Given the description of an element on the screen output the (x, y) to click on. 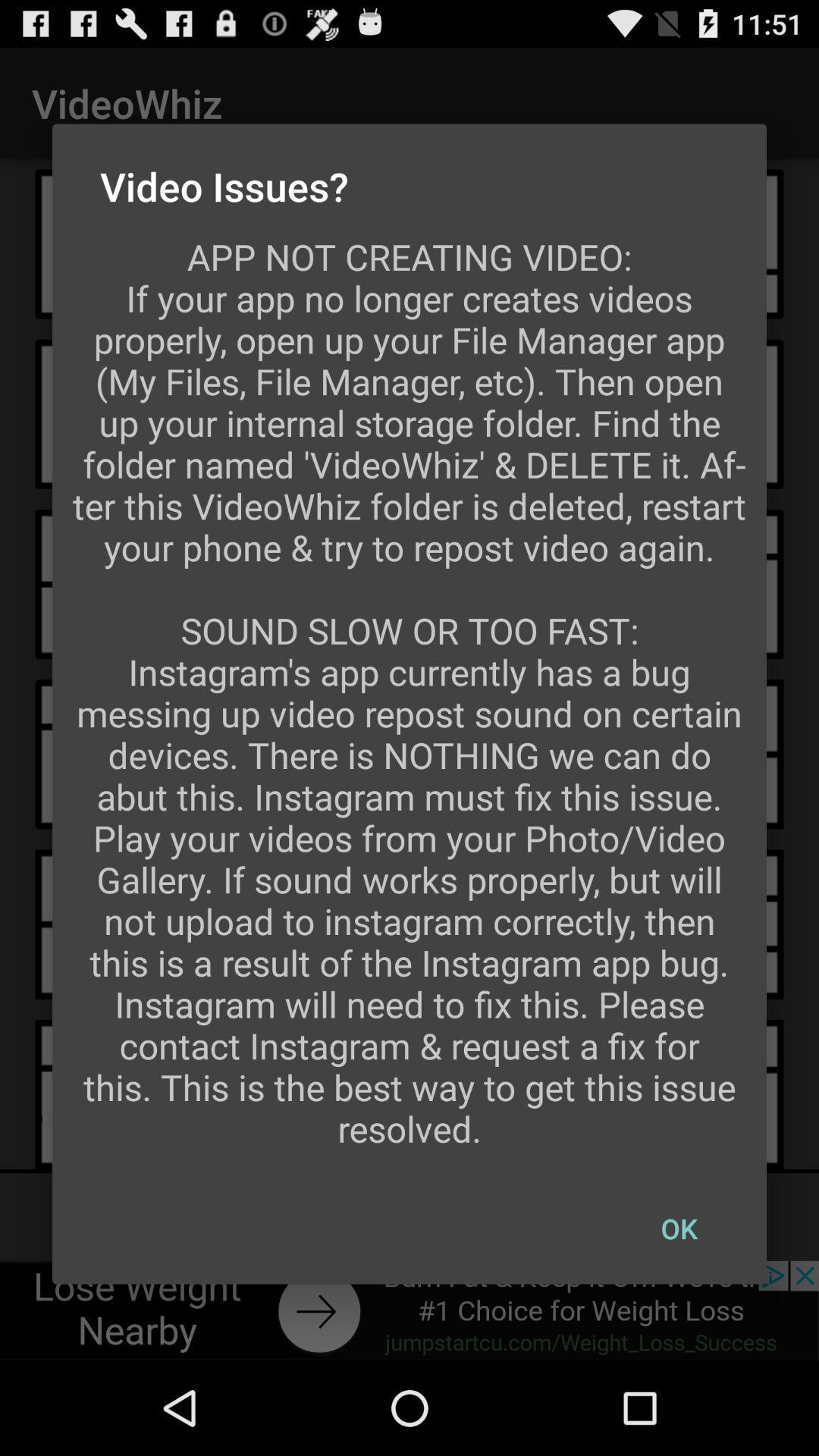
tap the ok icon (678, 1228)
